Given the description of an element on the screen output the (x, y) to click on. 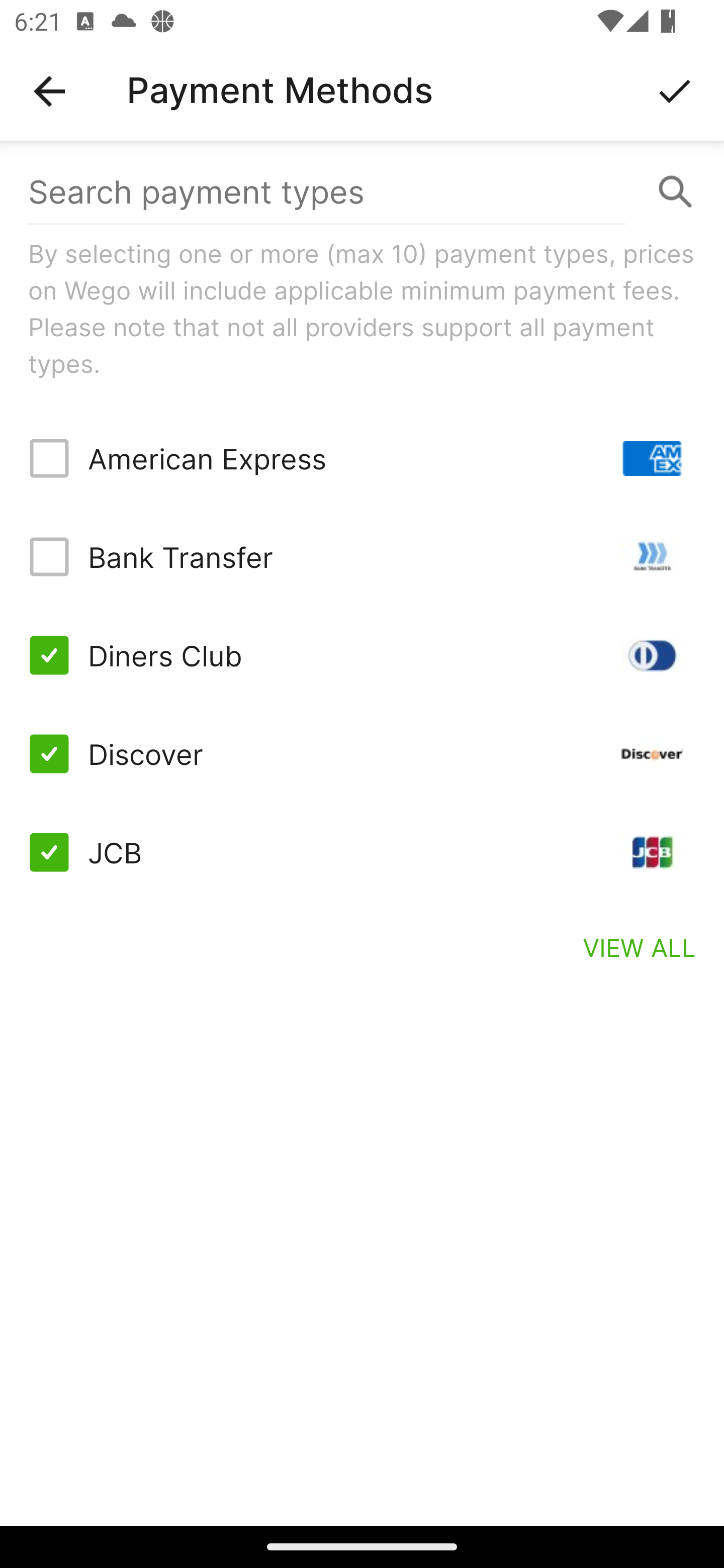
Search payment types  (361, 191)
American Express (362, 458)
Bank Transfer (362, 557)
Diners Club (362, 655)
Discover (362, 753)
JCB (362, 851)
VIEW ALL (639, 946)
